Given the description of an element on the screen output the (x, y) to click on. 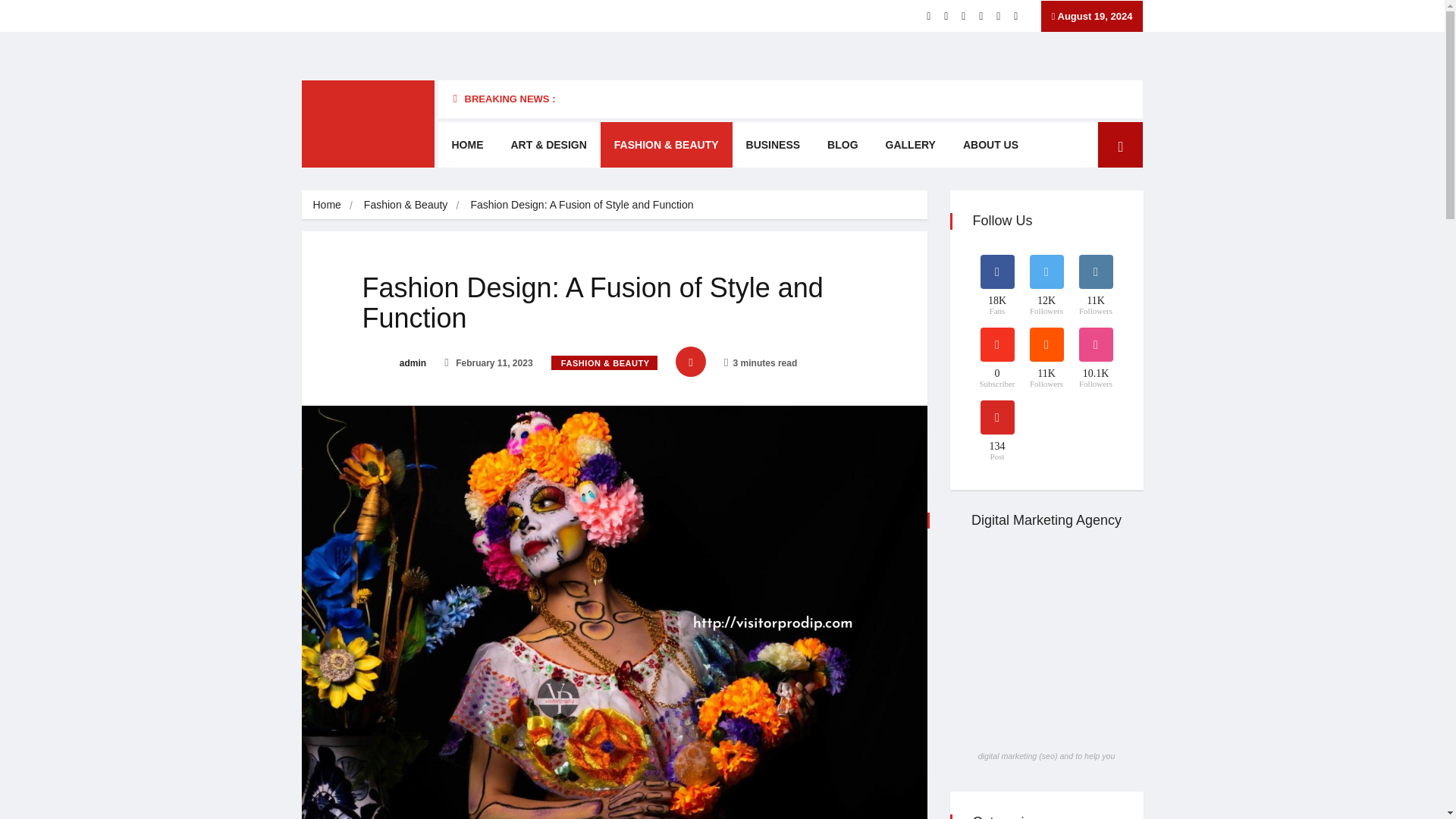
ABOUT US (990, 144)
BUSINESS (772, 144)
HOME (467, 144)
BLOG (841, 144)
Home (326, 204)
admin (394, 362)
GALLERY (910, 144)
